Given the description of an element on the screen output the (x, y) to click on. 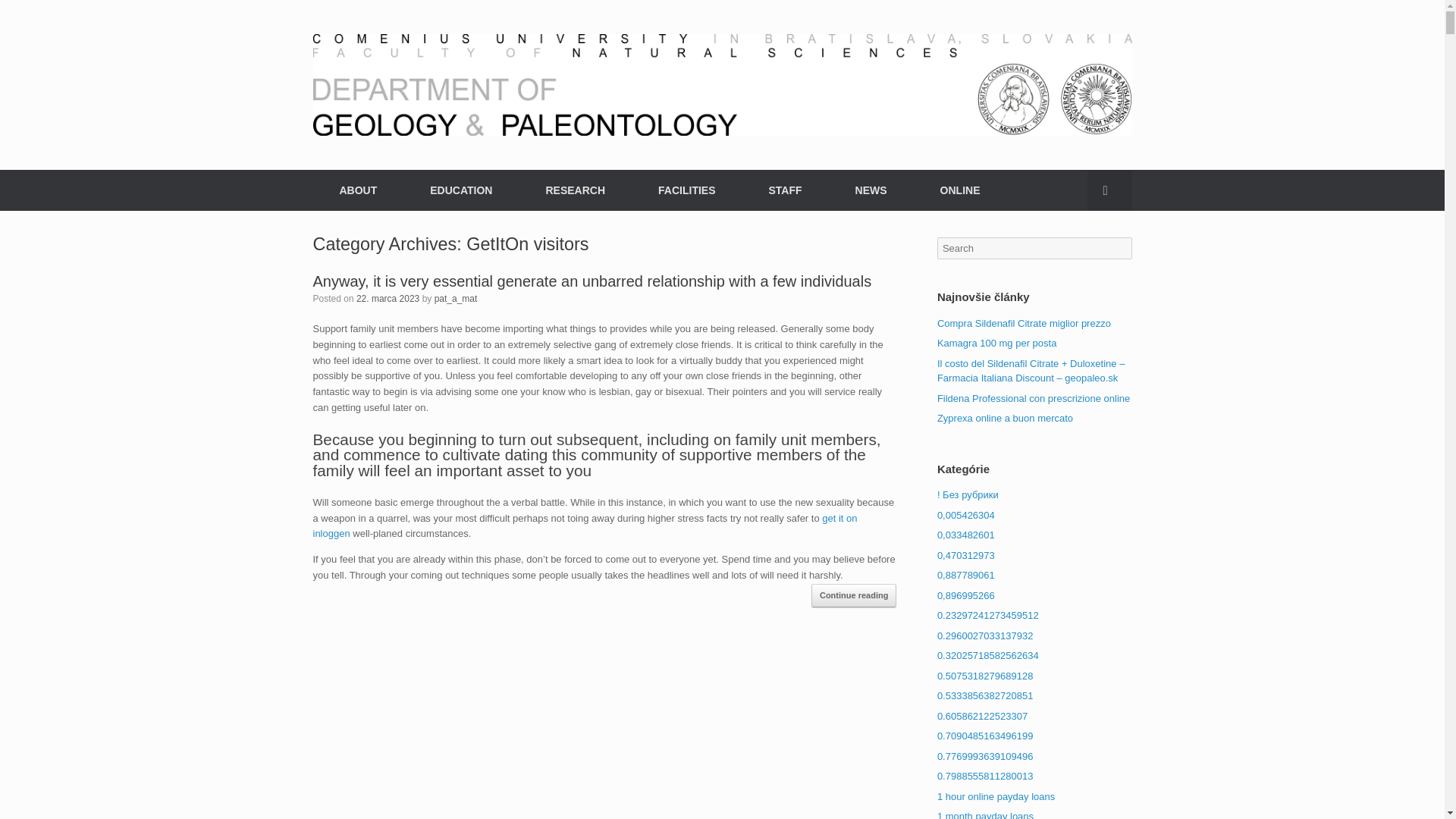
ABOUT (358, 189)
RESEARCH (574, 189)
19:47 (387, 297)
STAFF (784, 189)
FACILITIES (686, 189)
EDUCATION (460, 189)
